Given the description of an element on the screen output the (x, y) to click on. 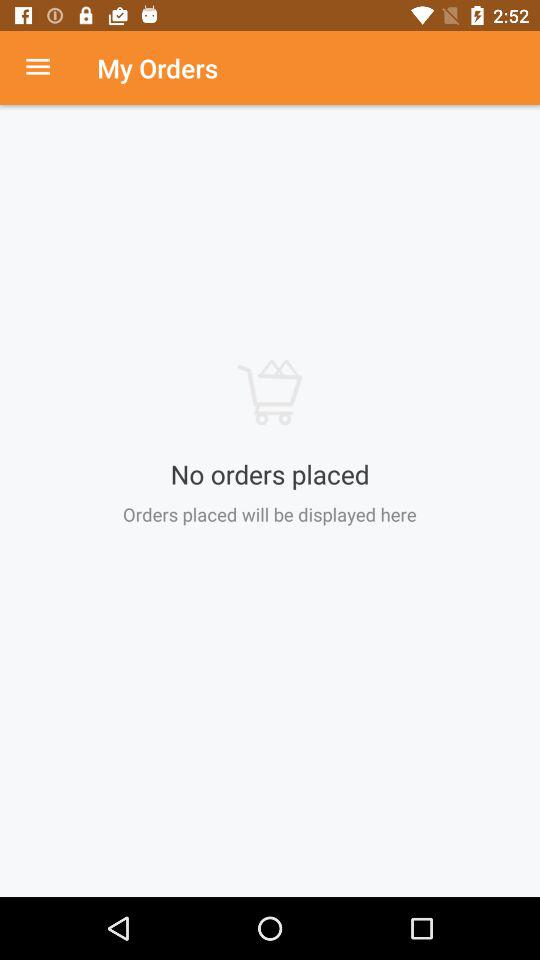
tap item at the top left corner (48, 67)
